Given the description of an element on the screen output the (x, y) to click on. 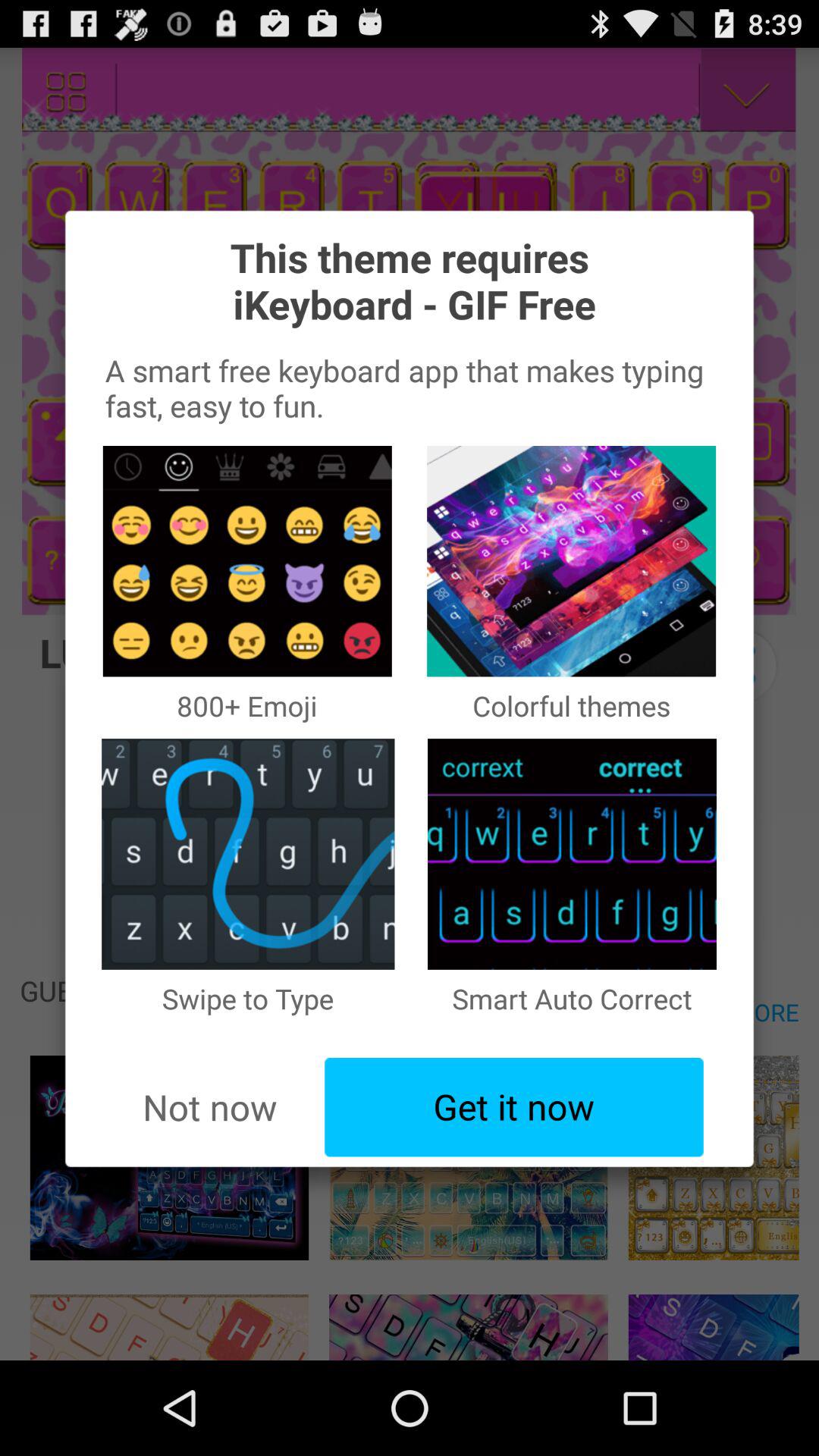
flip until get it now item (513, 1106)
